Given the description of an element on the screen output the (x, y) to click on. 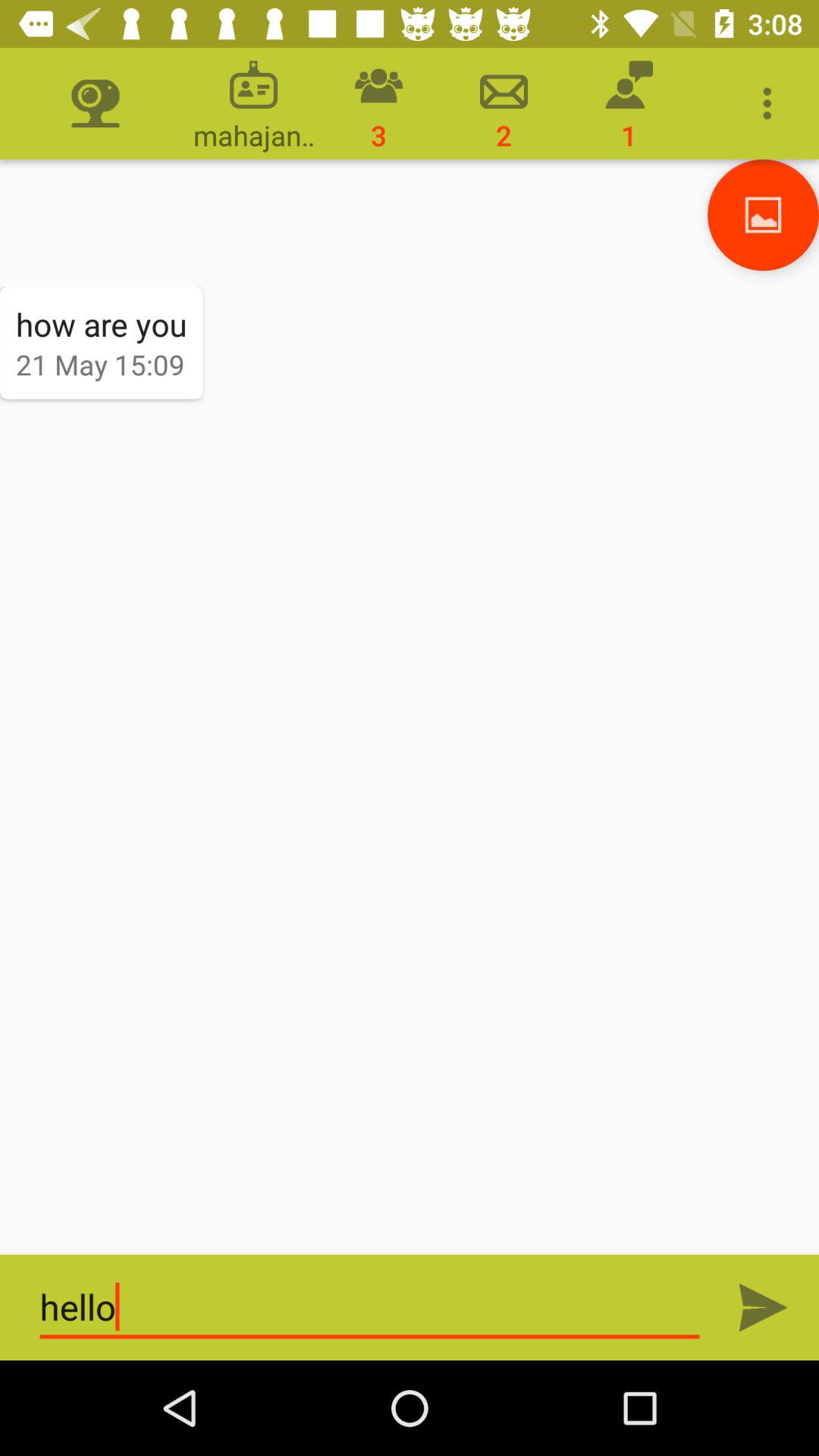
send option (763, 1307)
